Given the description of an element on the screen output the (x, y) to click on. 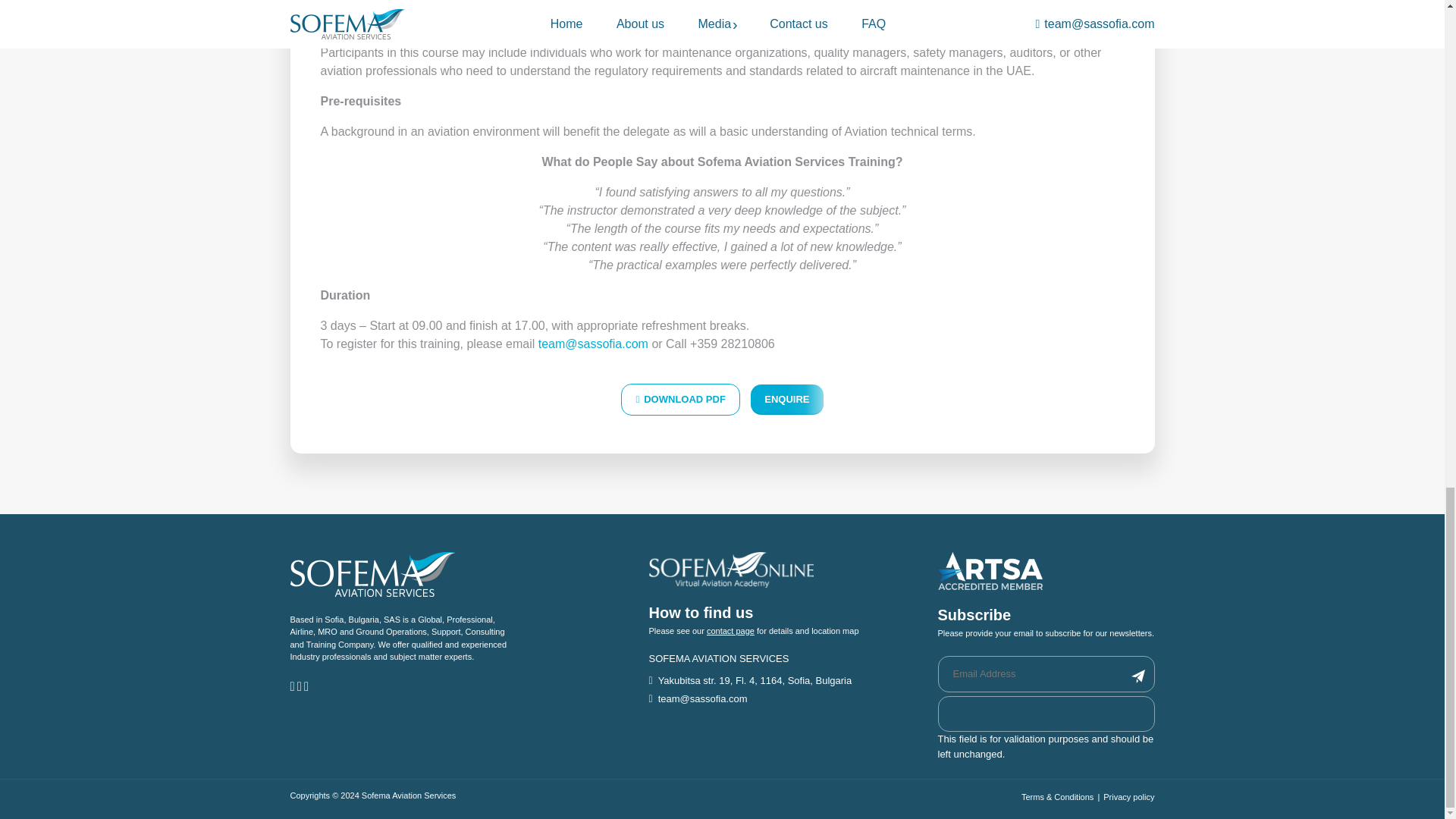
contact page (730, 630)
DOWNLOAD PDF (680, 399)
ENQUIRE (786, 399)
Privacy policy (1128, 797)
